Given the description of an element on the screen output the (x, y) to click on. 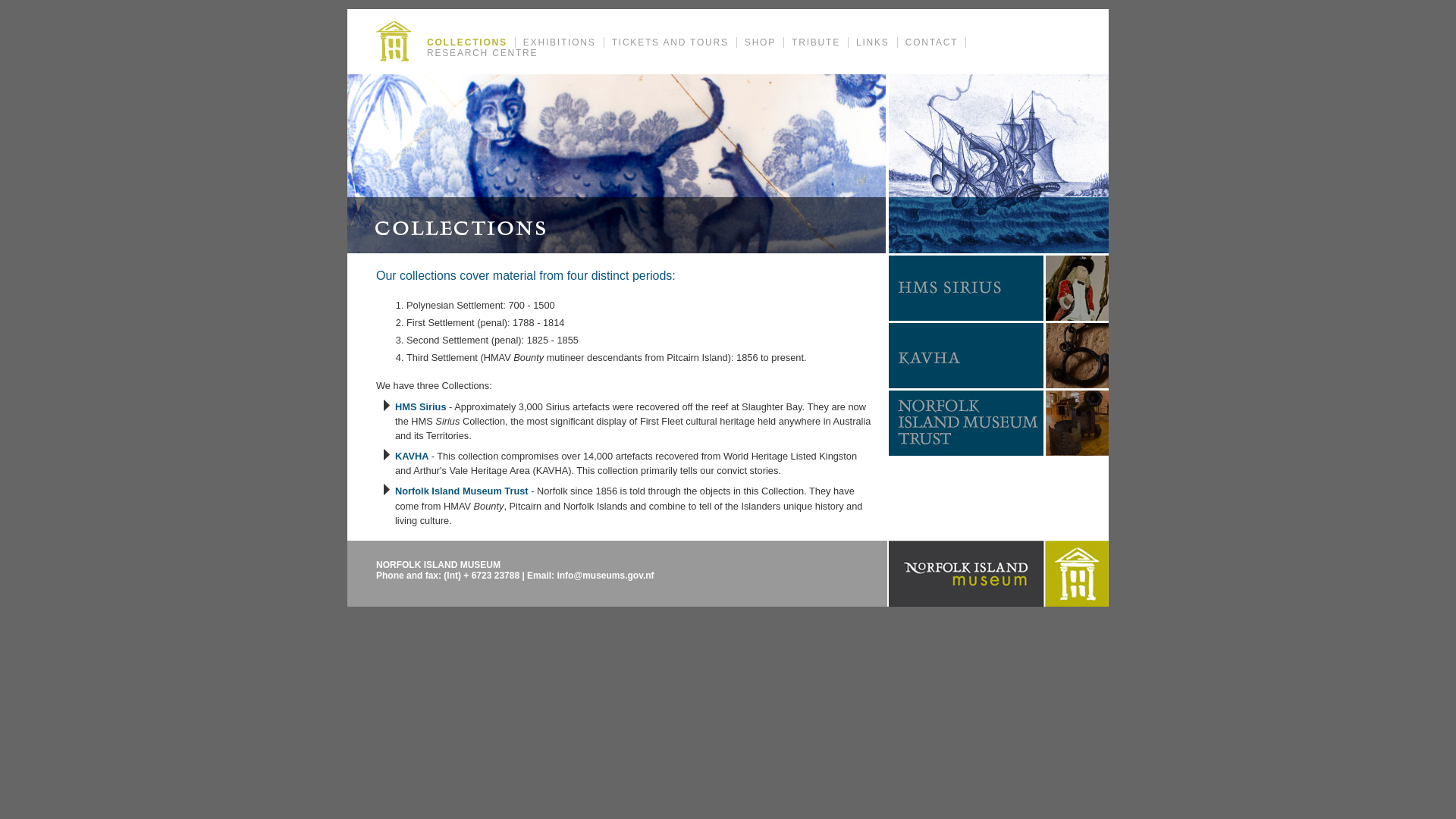
Norfolk Island Museum Trust Element type: text (461, 490)
RESEARCH CENTRE Element type: text (482, 52)
SHOP Element type: text (760, 42)
TRIBUTE Element type: text (816, 42)
CONTACT Element type: text (931, 42)
info@museums.gov.nf Element type: text (604, 575)
LINKS Element type: text (872, 42)
KAVHA Element type: text (413, 455)
TICKETS AND TOURS Element type: text (670, 42)
EXHIBITIONS Element type: text (559, 42)
COLLECTIONS Element type: text (467, 42)
HMS Sirius Element type: text (420, 406)
